Given the description of an element on the screen output the (x, y) to click on. 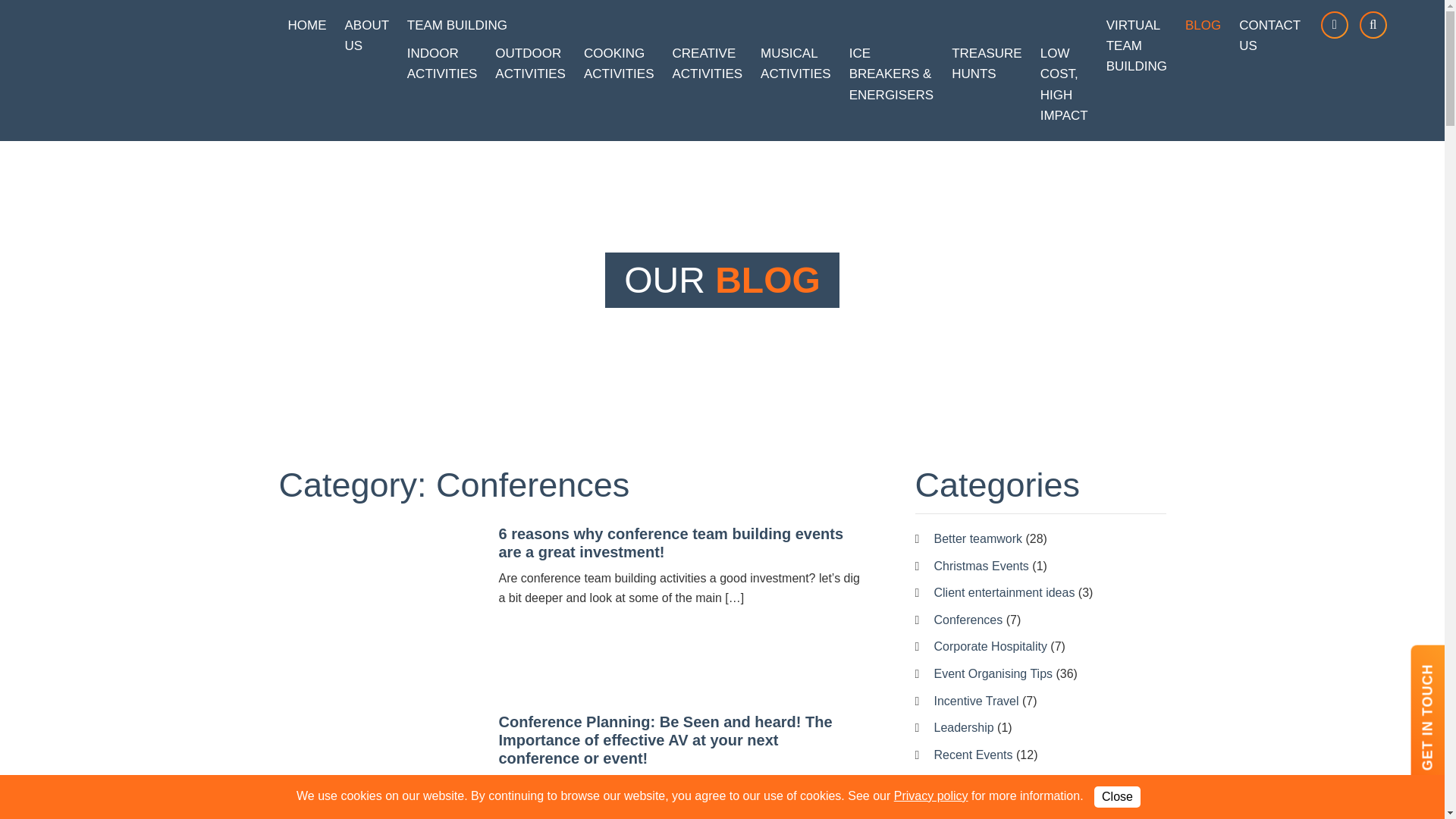
Conferences (968, 619)
TEAM BUILDING (747, 25)
TREASURE HUNTS (986, 63)
CREATIVE ACTIVITIES (706, 63)
VIRTUAL TEAM BUILDING (1136, 46)
HOME (307, 25)
ABOUT US (365, 35)
BLOG (1203, 25)
CONTACT US (1269, 35)
Christmas Events (981, 565)
